Given the description of an element on the screen output the (x, y) to click on. 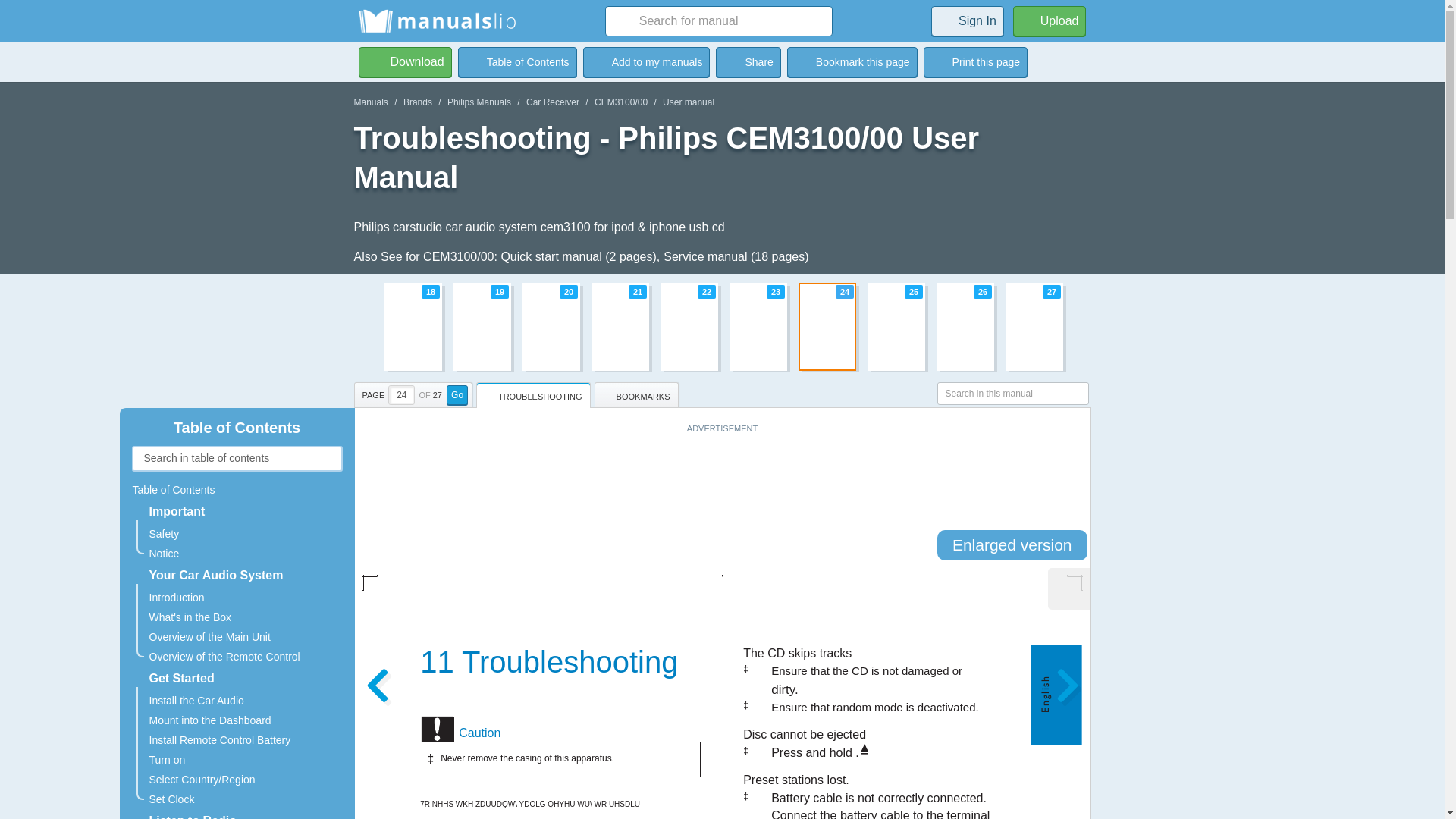
Car Receiver (552, 102)
Philips Manuals (478, 102)
Quick start manual (550, 256)
Service manual (704, 256)
Sign In (967, 20)
Upload new manual (1049, 20)
Brands (417, 102)
24 (401, 394)
Bookmark this page (721, 326)
